Given the description of an element on the screen output the (x, y) to click on. 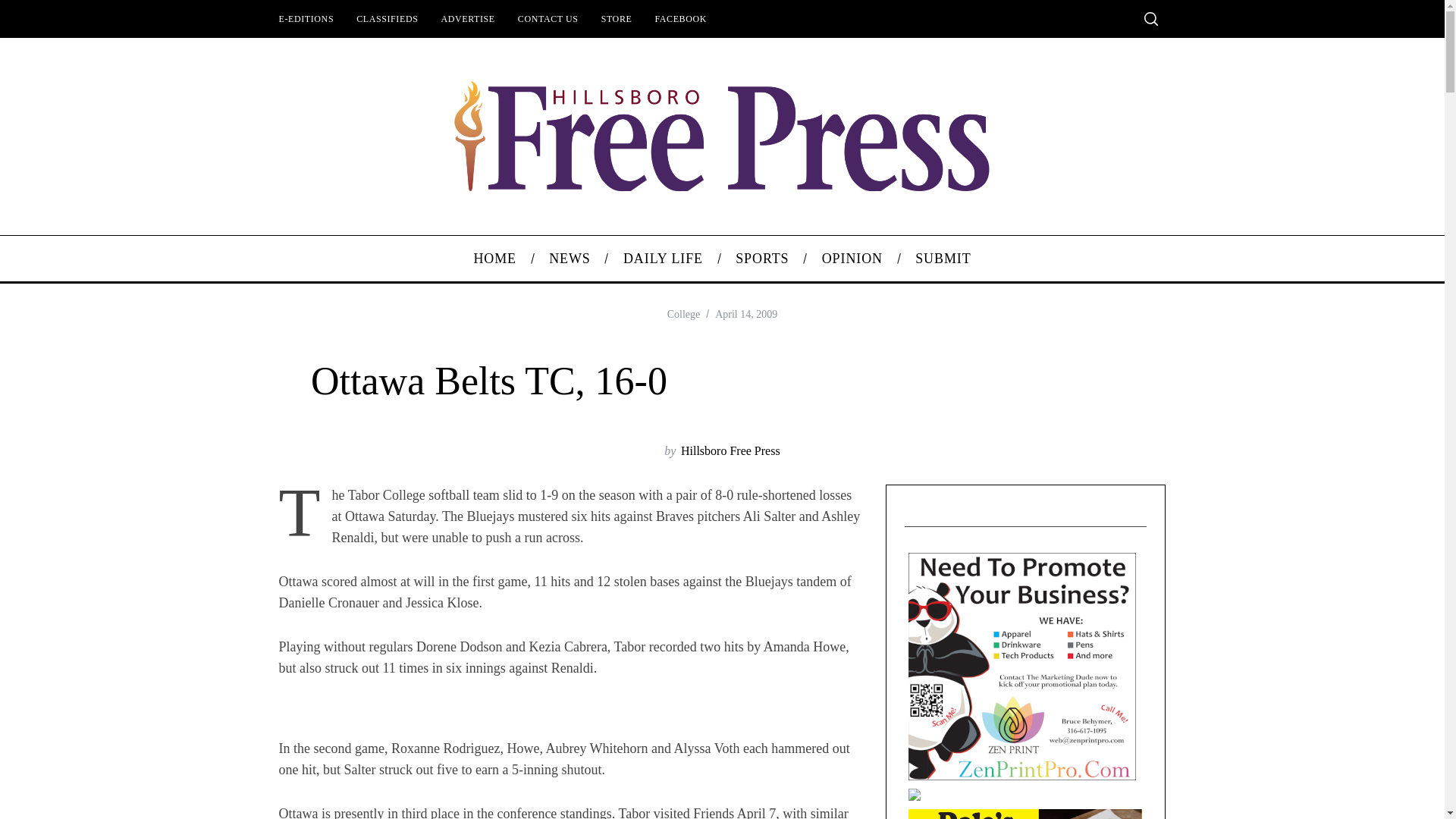
SPORTS (762, 258)
FACEBOOK (680, 18)
ADVERTISE (467, 18)
E-EDITIONS (305, 18)
CLASSIFIEDS (387, 18)
STORE (616, 18)
OPINION (851, 258)
CONTACT US (547, 18)
DAILY LIFE (663, 258)
